Given the description of an element on the screen output the (x, y) to click on. 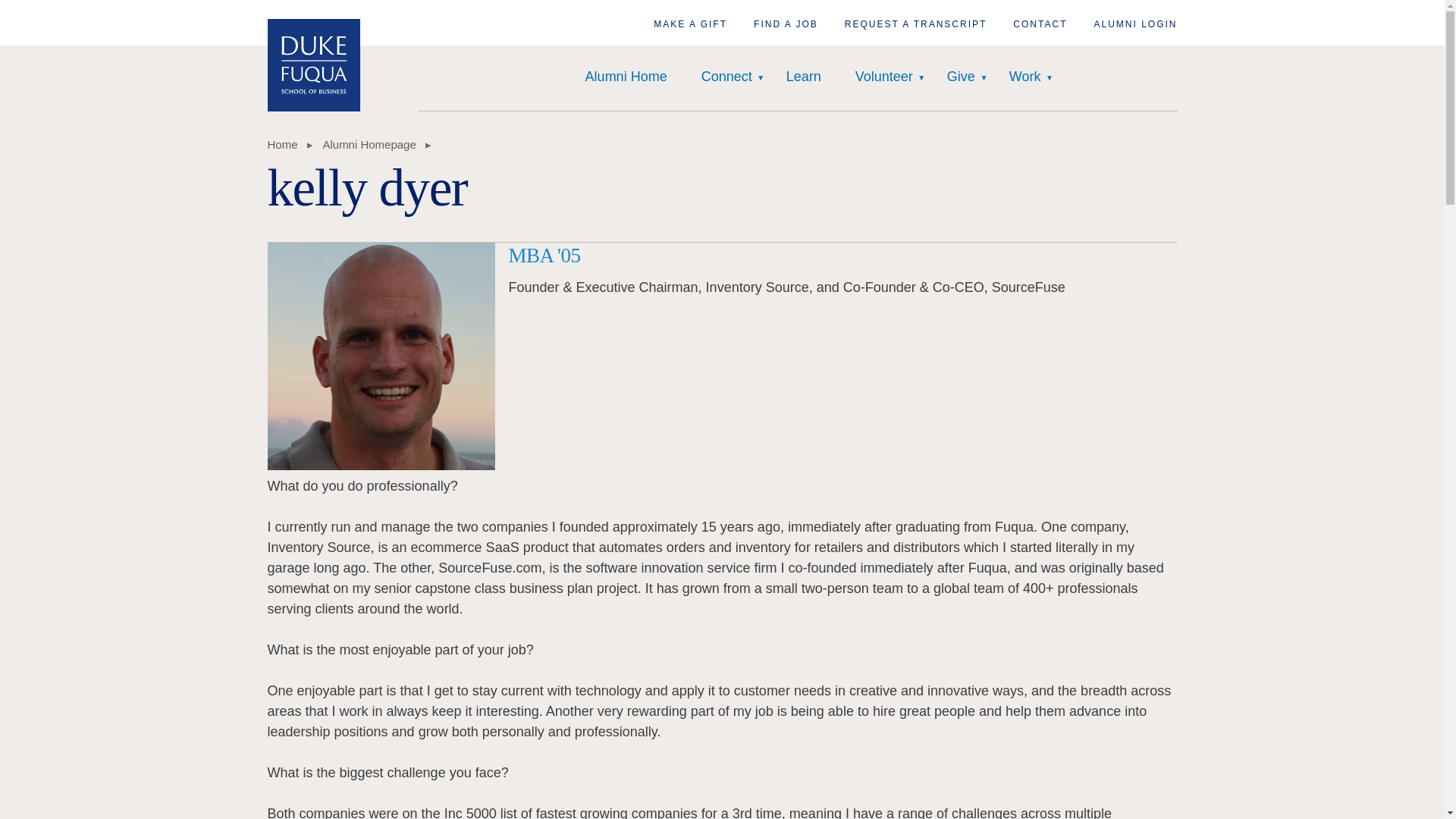
Home (312, 64)
Volunteer (884, 76)
Alumni Home (625, 76)
Alumni Contact Us (1040, 23)
